Given the description of an element on the screen output the (x, y) to click on. 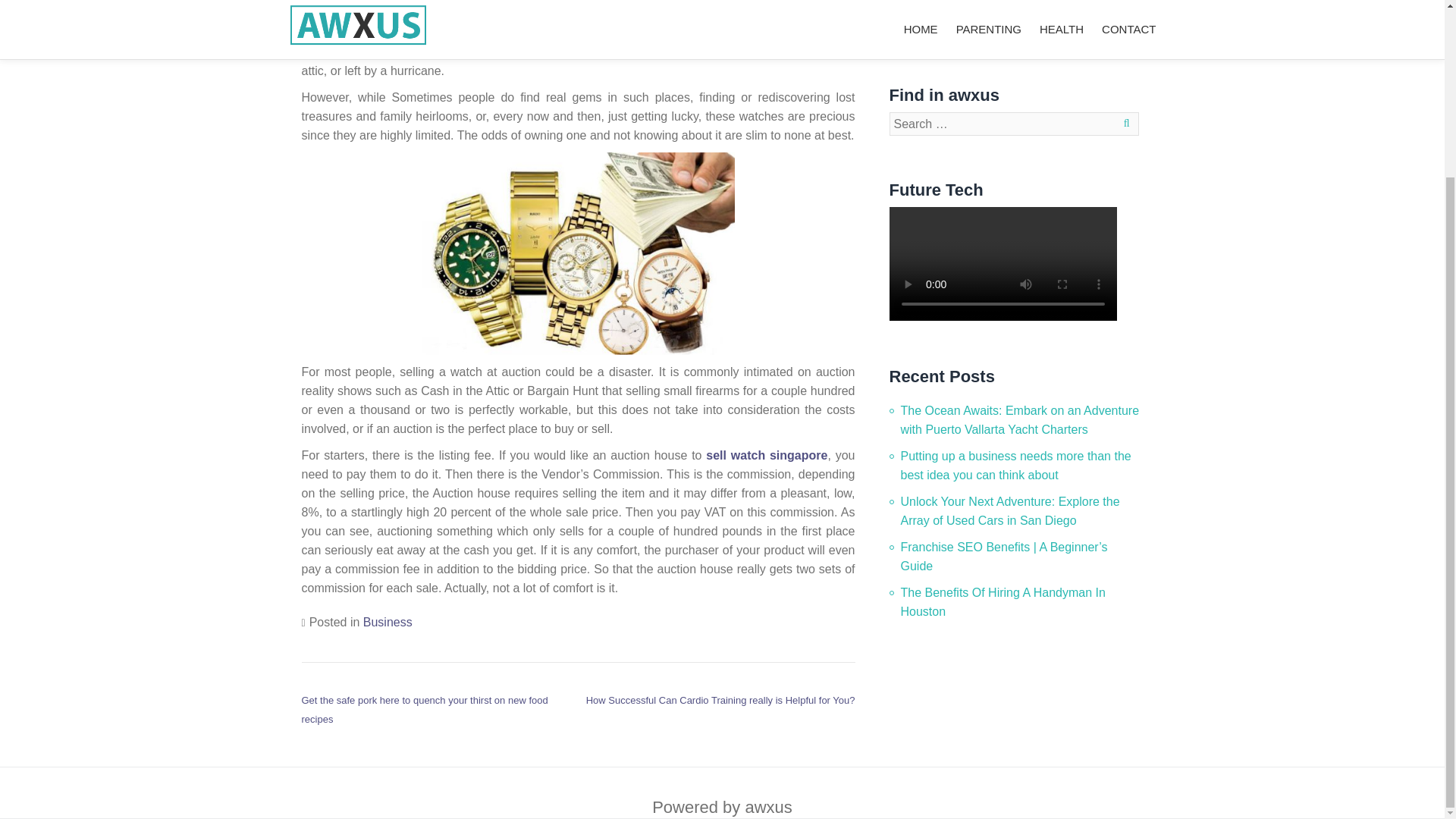
sell watch singapore (766, 454)
Business (387, 621)
Search (1122, 123)
Search (1122, 123)
Search (1122, 123)
